Given the description of an element on the screen output the (x, y) to click on. 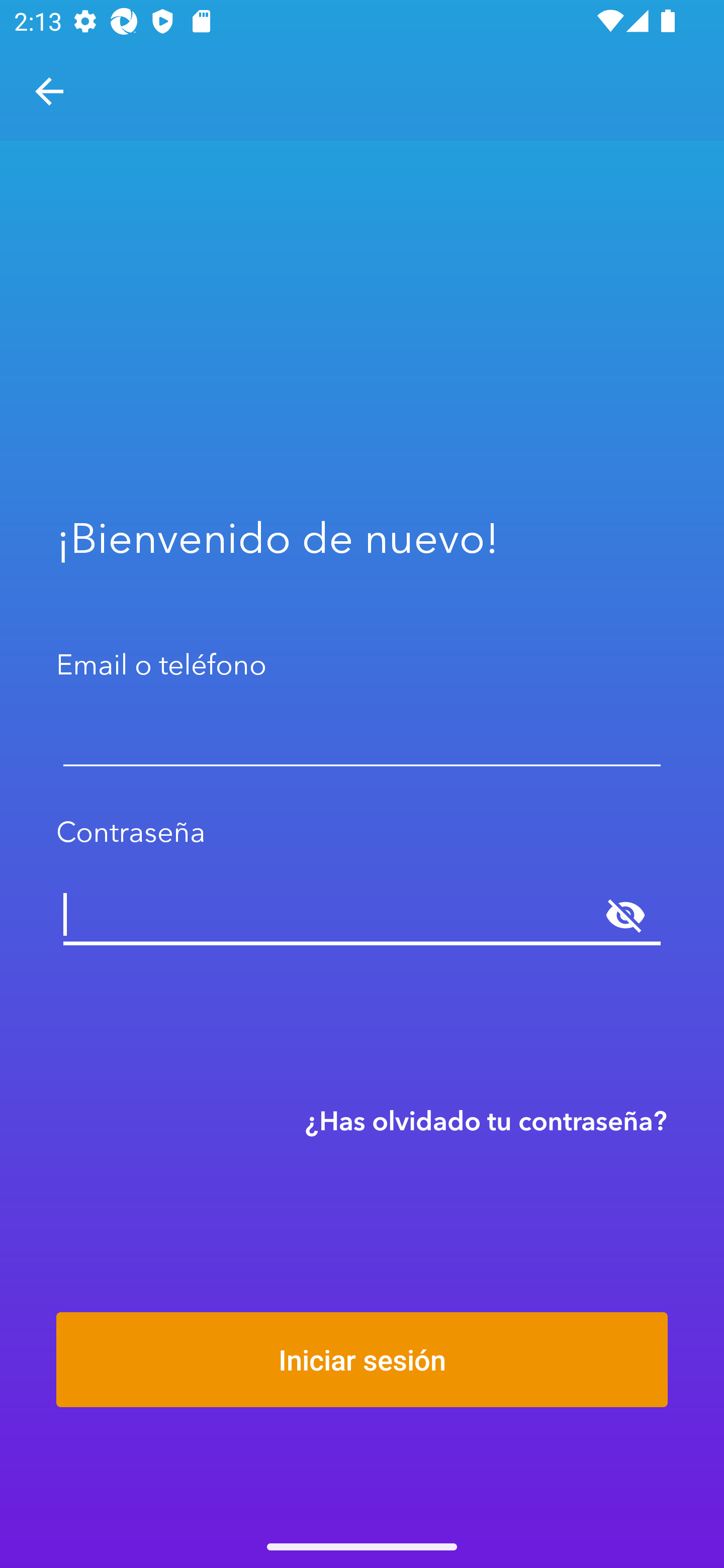
Navegar hacia arriba (49, 91)
Mostrar contraseña (625, 915)
¿Has olvidado tu contraseña? (486, 1119)
Iniciar sesión (361, 1359)
